Given the description of an element on the screen output the (x, y) to click on. 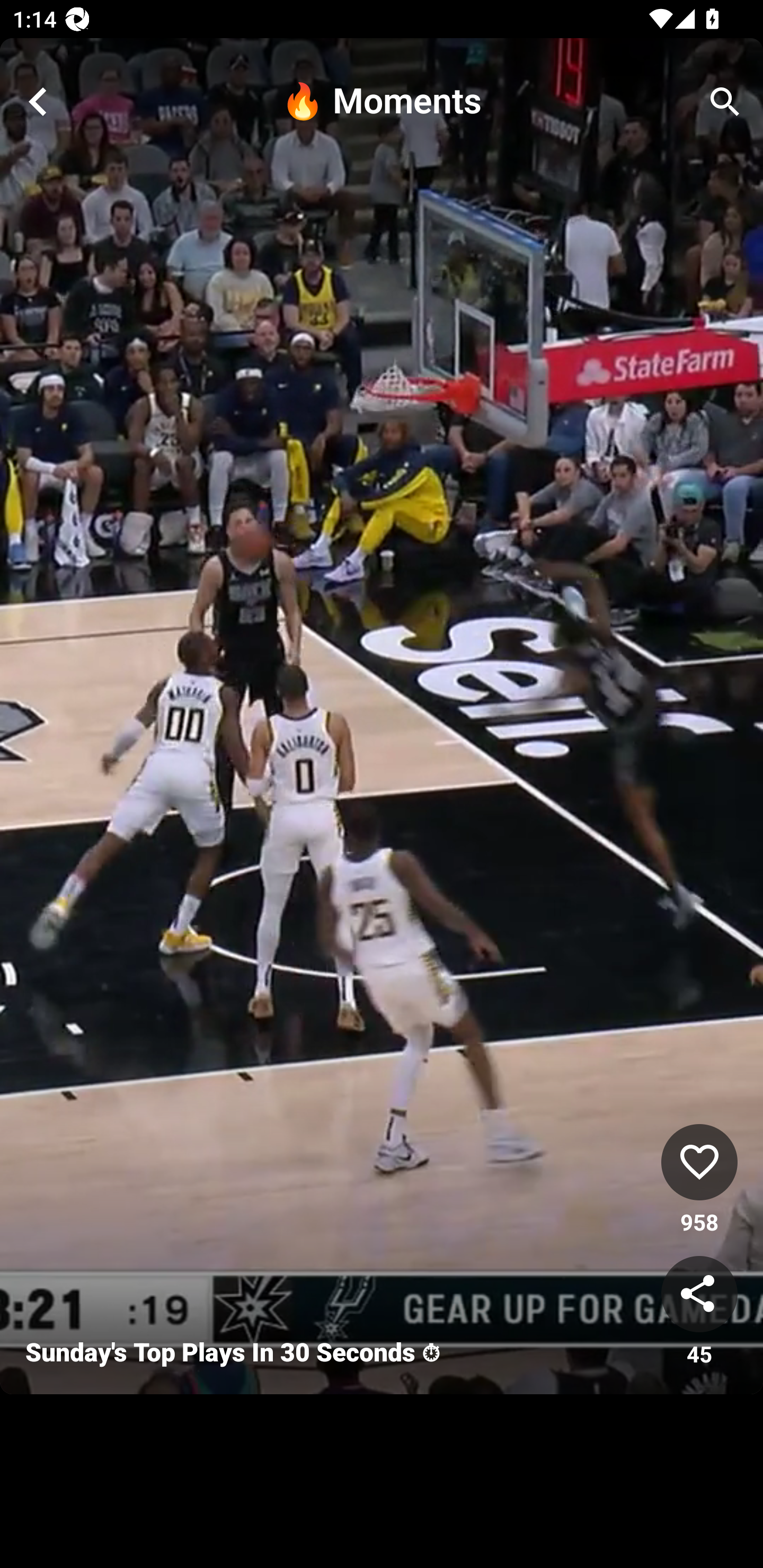
close (38, 101)
search (724, 101)
like 958 958 Likes (699, 1180)
share 45 45 Shares (699, 1311)
